Given the description of an element on the screen output the (x, y) to click on. 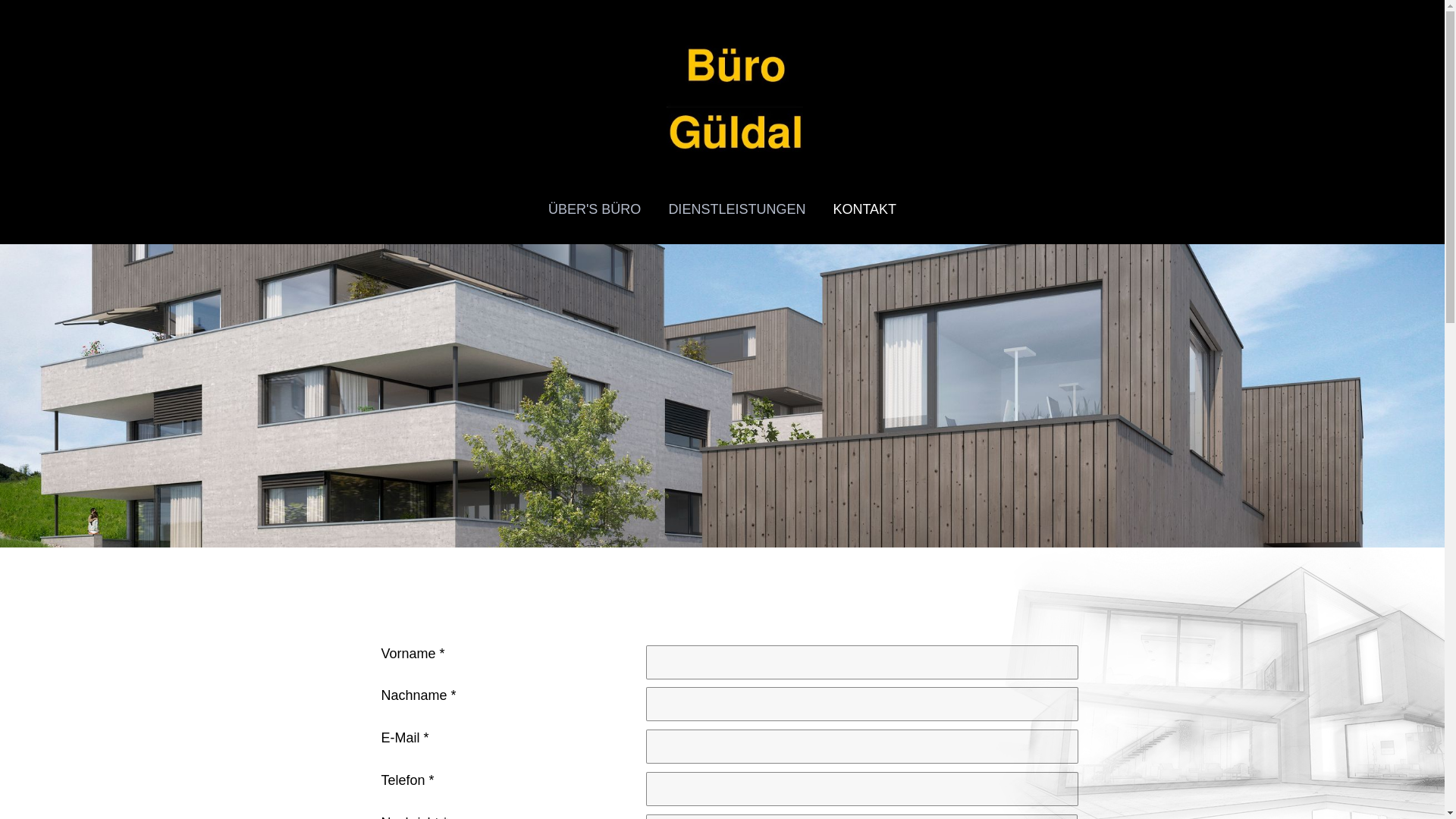
DIENSTLEISTUNGEN Element type: text (736, 209)
KONTAKT Element type: text (871, 209)
